Given the description of an element on the screen output the (x, y) to click on. 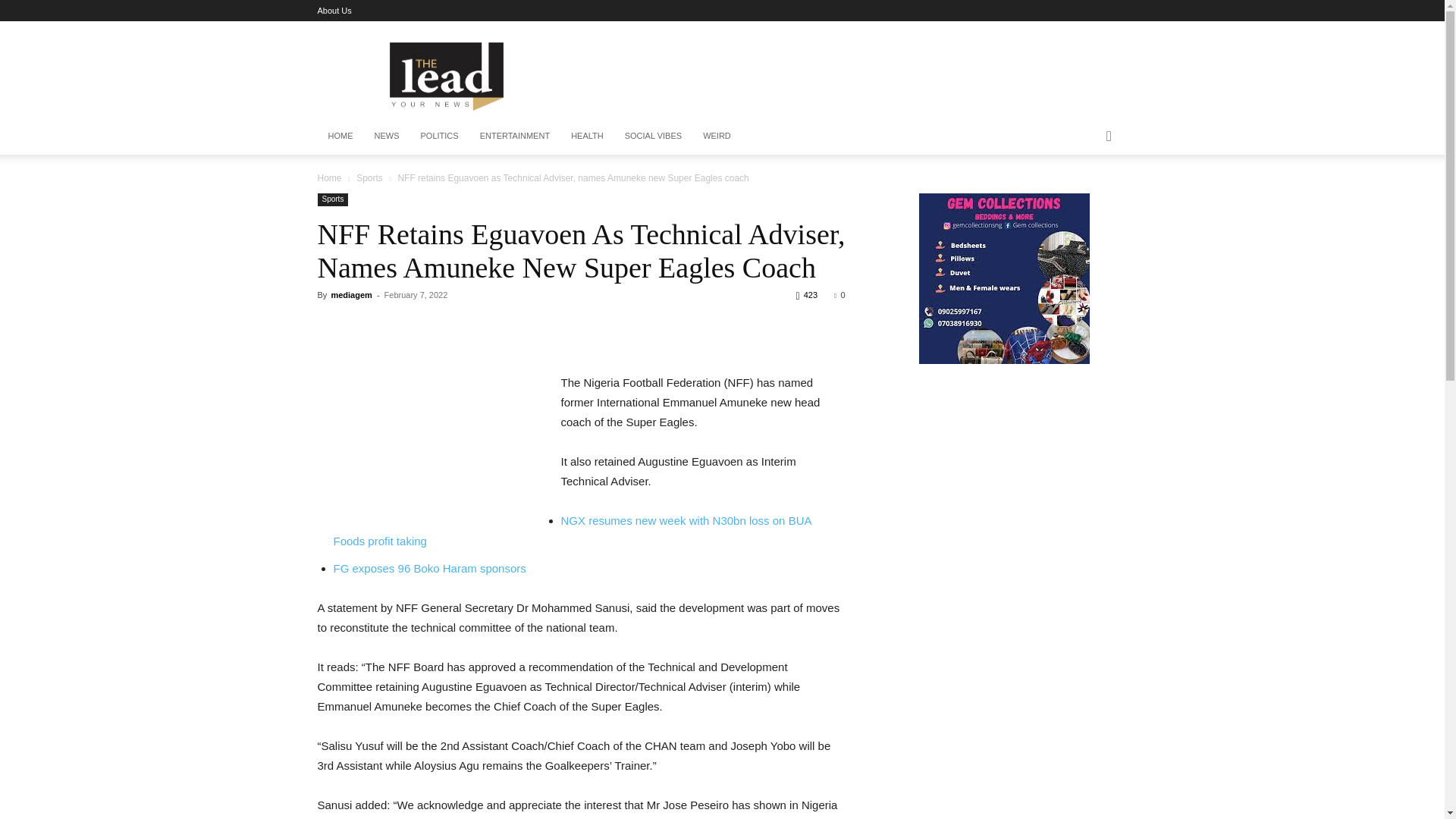
FG exposes 96 Boko Haram sponsors (429, 567)
Home (328, 177)
mediagem (350, 294)
WEIRD (717, 135)
Sports (369, 177)
NEWS (387, 135)
POLITICS (438, 135)
HEALTH (587, 135)
Sports (332, 199)
View all posts in Sports (369, 177)
